Given the description of an element on the screen output the (x, y) to click on. 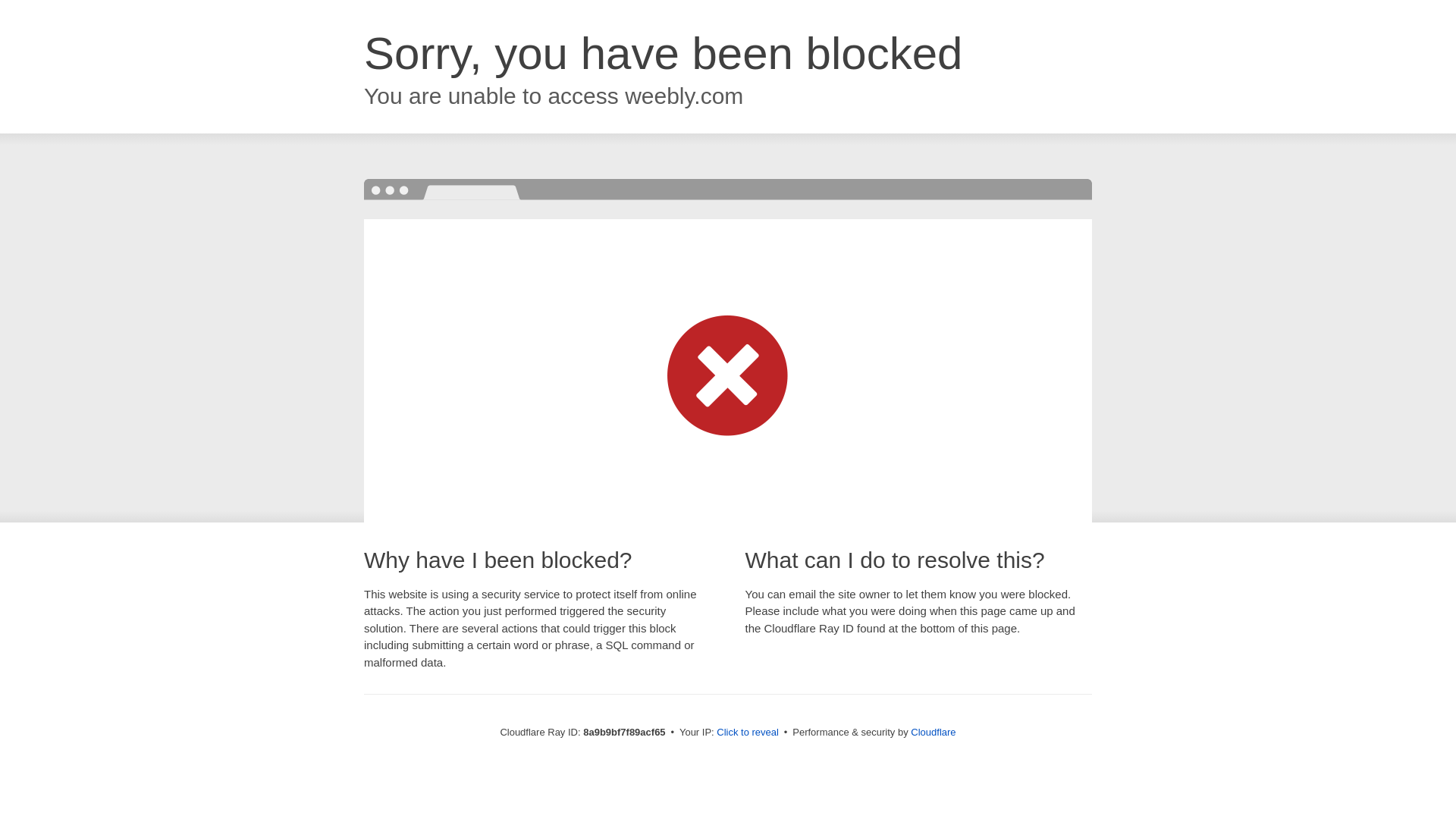
Cloudflare (933, 731)
Click to reveal (747, 732)
